Given the description of an element on the screen output the (x, y) to click on. 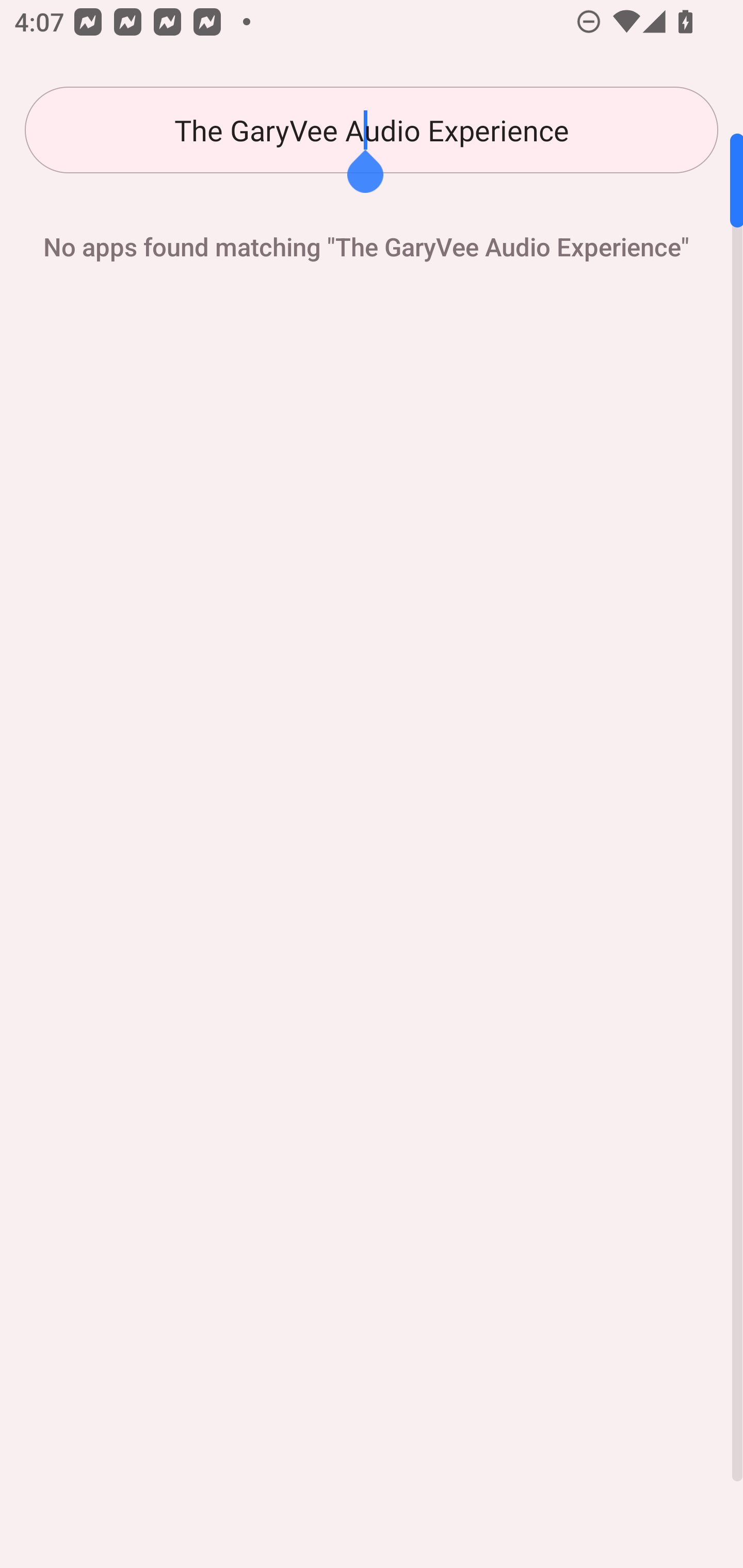
The GaryVee Audio Experience (371, 130)
